Given the description of an element on the screen output the (x, y) to click on. 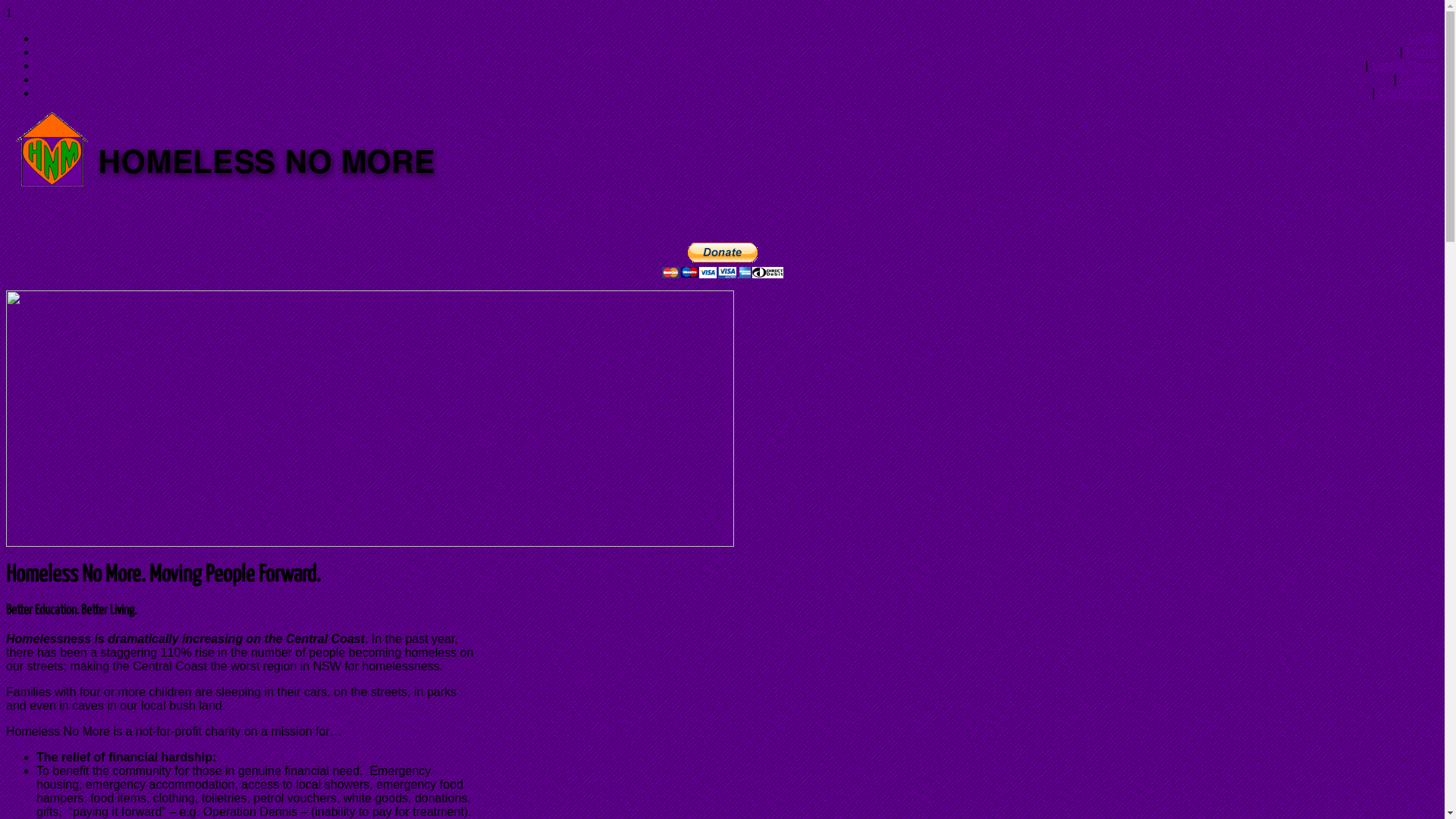
Latest News Element type: text (1404, 65)
Homeless No More Element type: hover (253, 184)
donate Element type: hover (721, 260)
Contact Us Element type: text (1408, 92)
Home Element type: text (1421, 51)
Login Element type: text (1423, 37)
Donate Element type: hover (721, 270)
Gallery Element type: text (1418, 78)
